Given the description of an element on the screen output the (x, y) to click on. 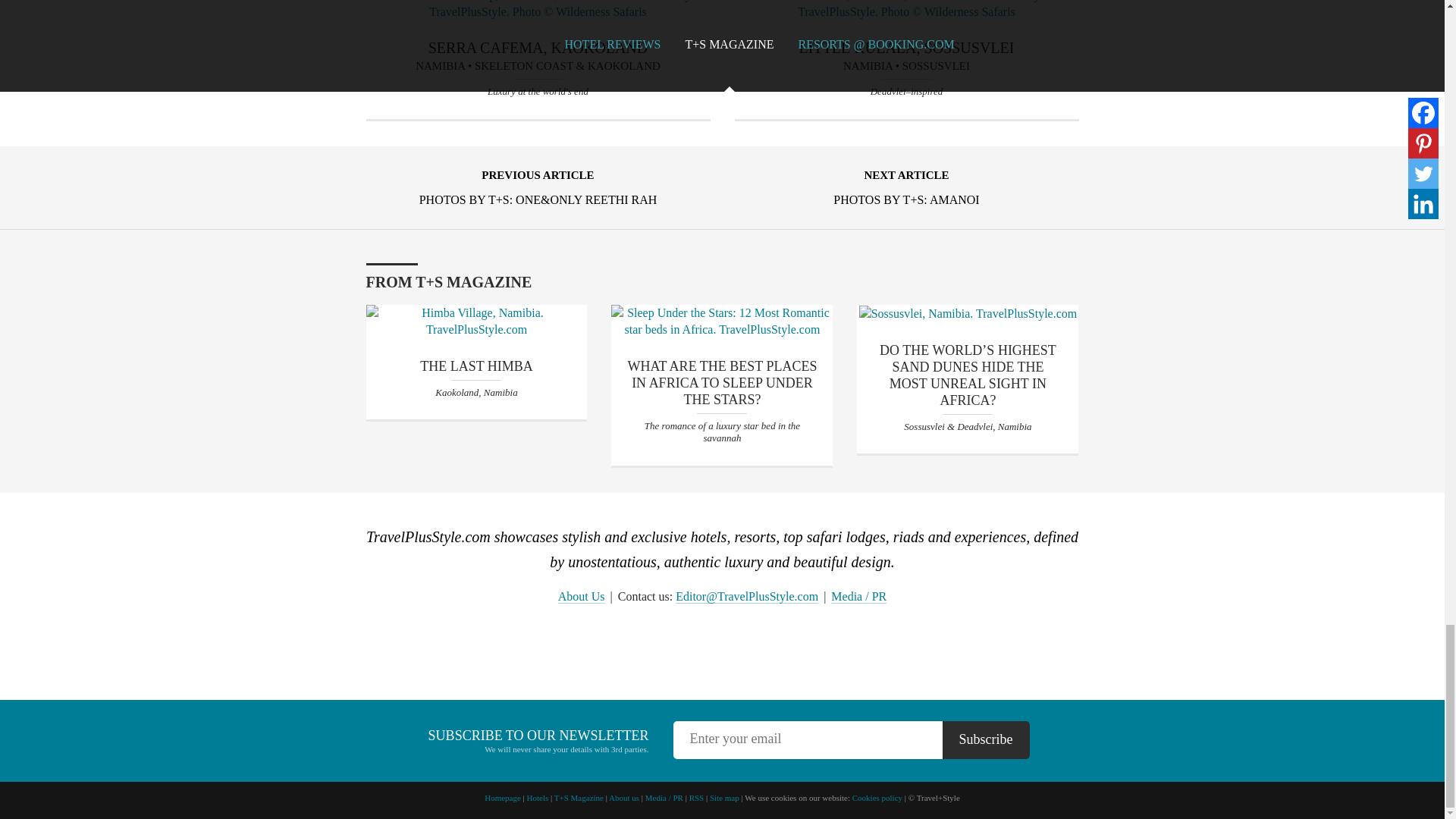
Subscribe (985, 740)
